Given the description of an element on the screen output the (x, y) to click on. 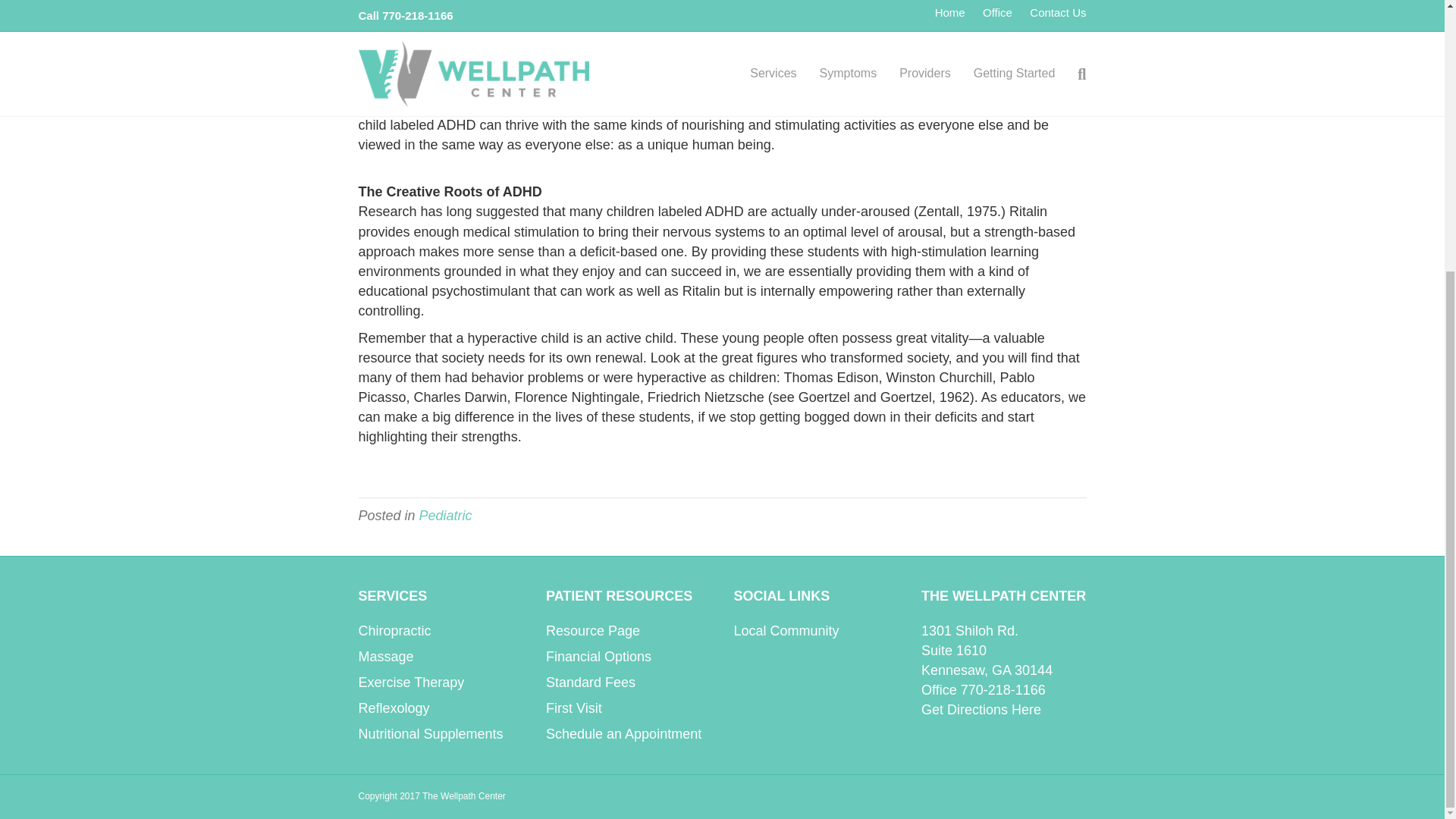
First Visit (574, 708)
Standard Fees (590, 682)
Schedule an Appointment (623, 734)
Pediatric (445, 515)
Resource Page (593, 630)
Reflexology (393, 708)
Chiropractic (394, 630)
Get Directions Here (981, 709)
Nutritional Supplements (430, 734)
Financial Options (598, 656)
Local Community (786, 630)
Massage (385, 656)
Exercise Therapy (411, 682)
